Given the description of an element on the screen output the (x, y) to click on. 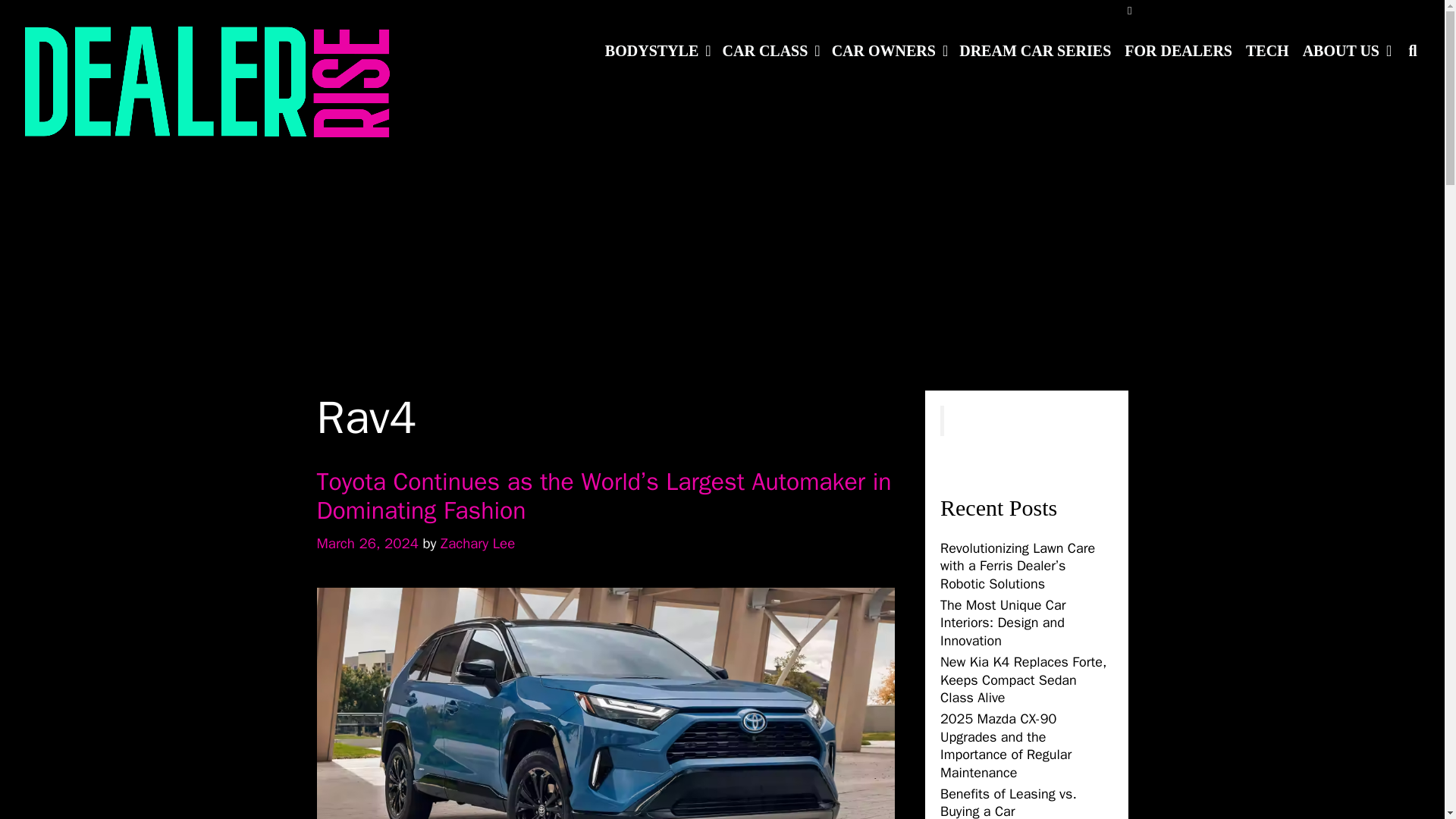
DREAM CAR SERIES (1035, 50)
BODYSTYLE (657, 50)
CAR OWNERS (889, 50)
Search (415, 26)
9:00 am (368, 543)
View all posts by Zachary Lee (478, 543)
CAR CLASS (770, 50)
FOR DEALERS (1178, 50)
March 26, 2024 (368, 543)
